Given the description of an element on the screen output the (x, y) to click on. 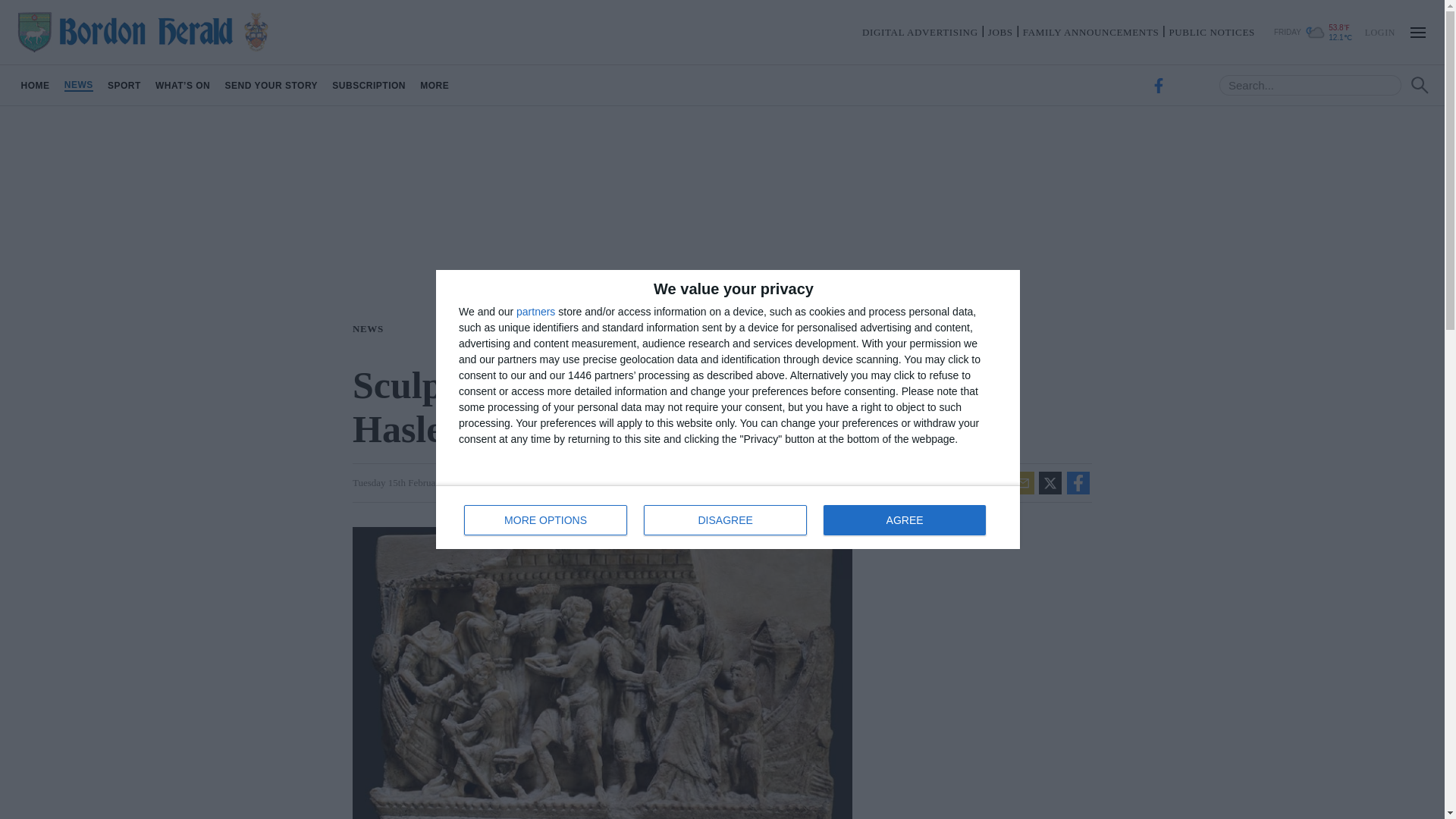
LOGIN (1379, 31)
SEND YOUR STORY (270, 85)
partners (727, 516)
HOME (535, 311)
NEWS (34, 85)
AGREE (78, 85)
SPORT (904, 520)
NEWS (124, 85)
MORE OPTIONS (371, 328)
MORE (545, 520)
PUBLIC NOTICES (435, 85)
SUBSCRIPTION (1211, 32)
DISAGREE (368, 85)
